Given the description of an element on the screen output the (x, y) to click on. 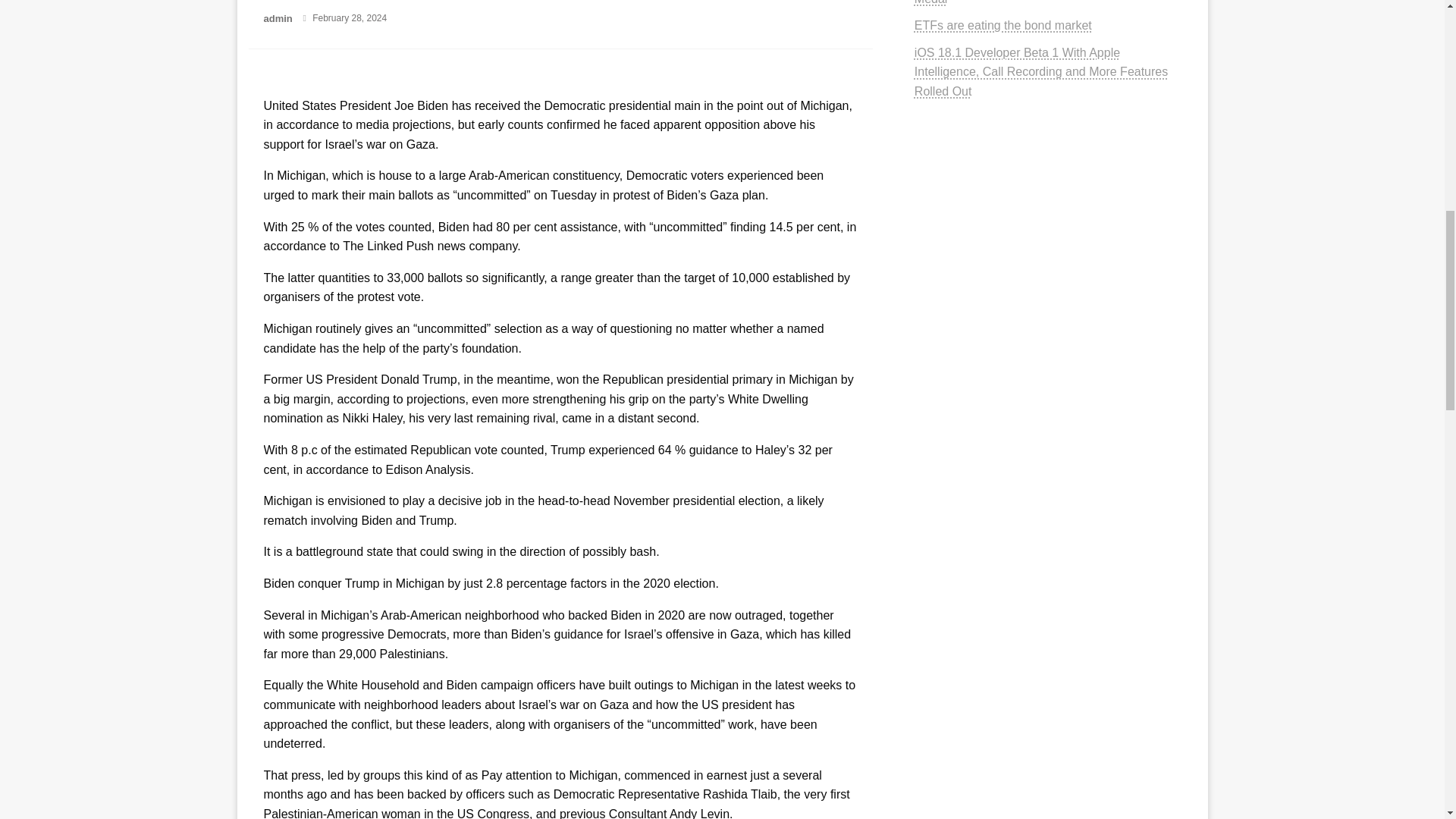
admin (279, 18)
February 28, 2024 (350, 18)
admin (279, 18)
